Given the description of an element on the screen output the (x, y) to click on. 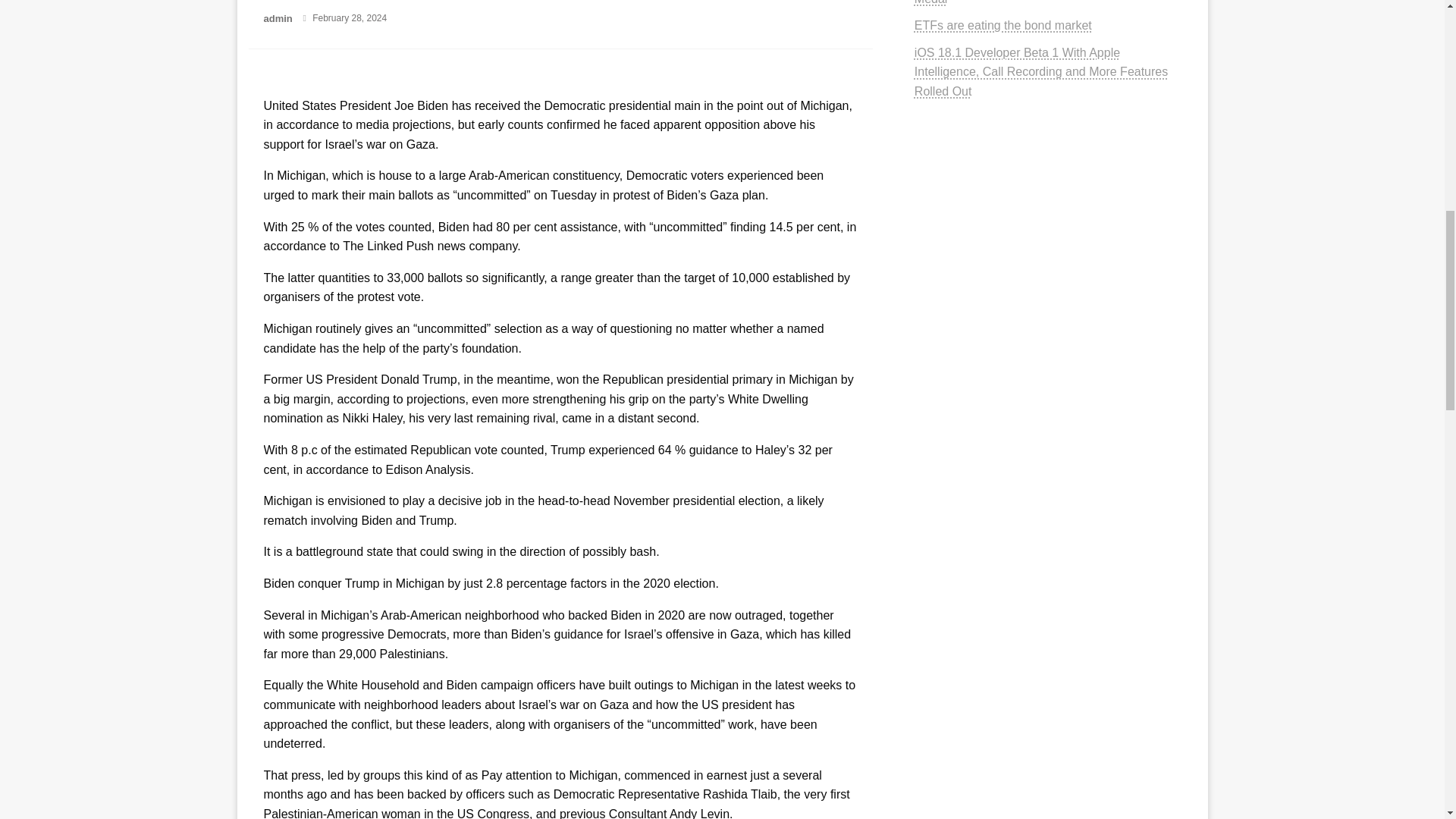
admin (279, 18)
February 28, 2024 (350, 18)
admin (279, 18)
